Given the description of an element on the screen output the (x, y) to click on. 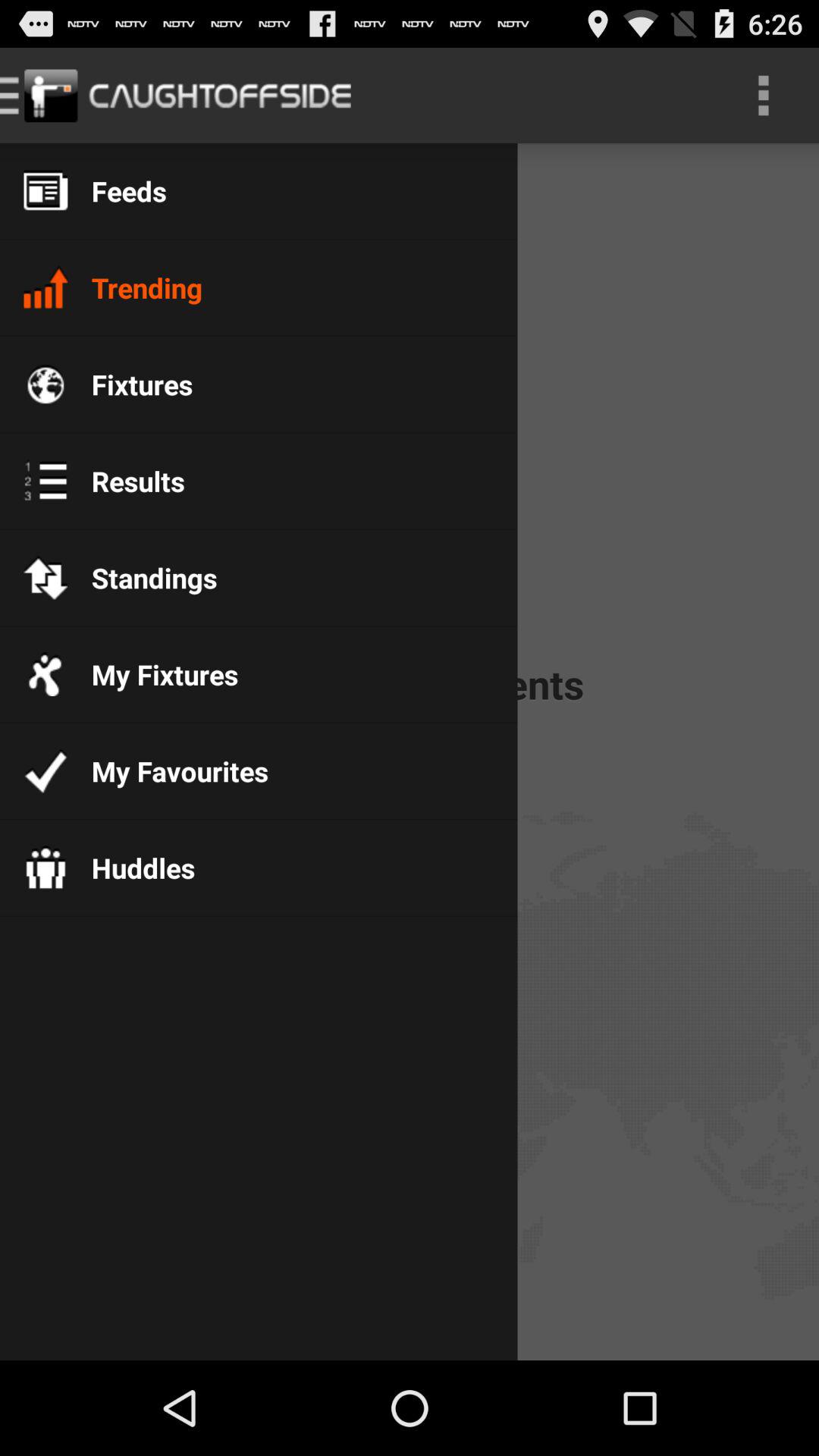
click the my fixtures app (152, 674)
